Given the description of an element on the screen output the (x, y) to click on. 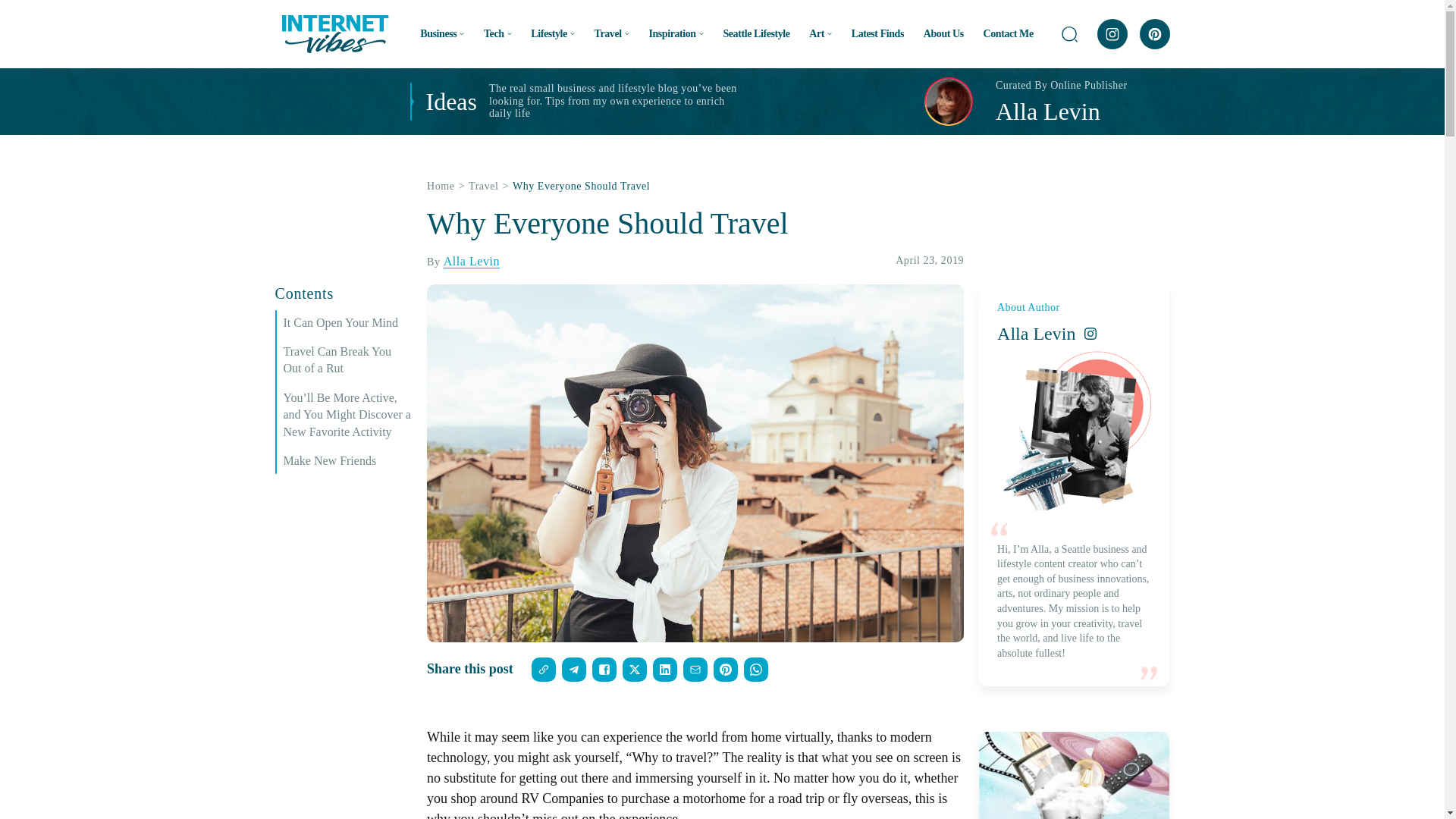
Travel Can Break You Out of a Rut (347, 360)
Lifestyle (553, 33)
Inspiration (675, 33)
It Can Open Your Mind (347, 322)
Tech (497, 33)
Make New Friends (347, 460)
Travel (611, 33)
Business (442, 33)
